Given the description of an element on the screen output the (x, y) to click on. 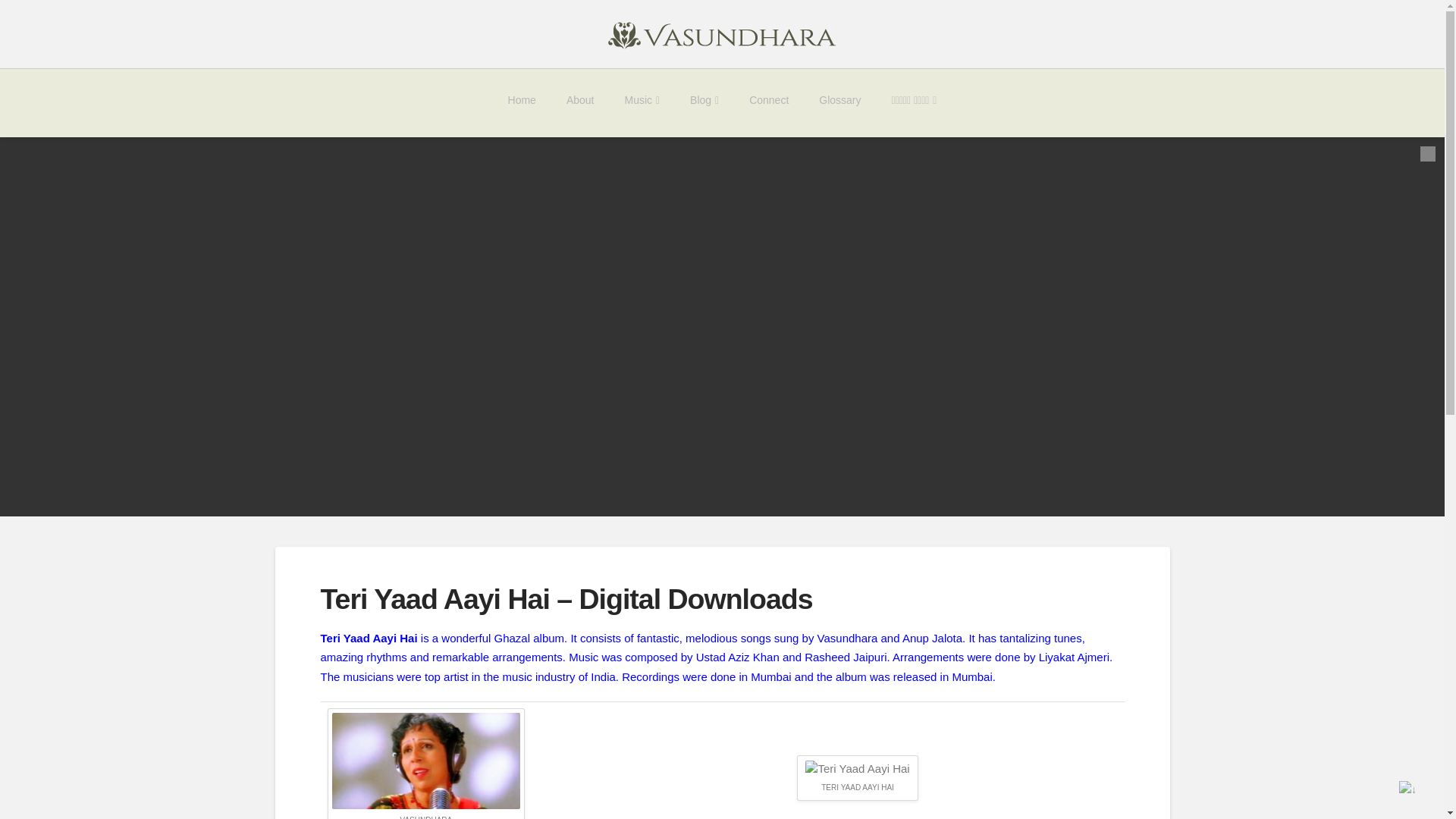
Connect (768, 102)
Turning Inward, Meditation, Contemplation on God (721, 33)
Glossary (839, 102)
Music (642, 102)
